Given the description of an element on the screen output the (x, y) to click on. 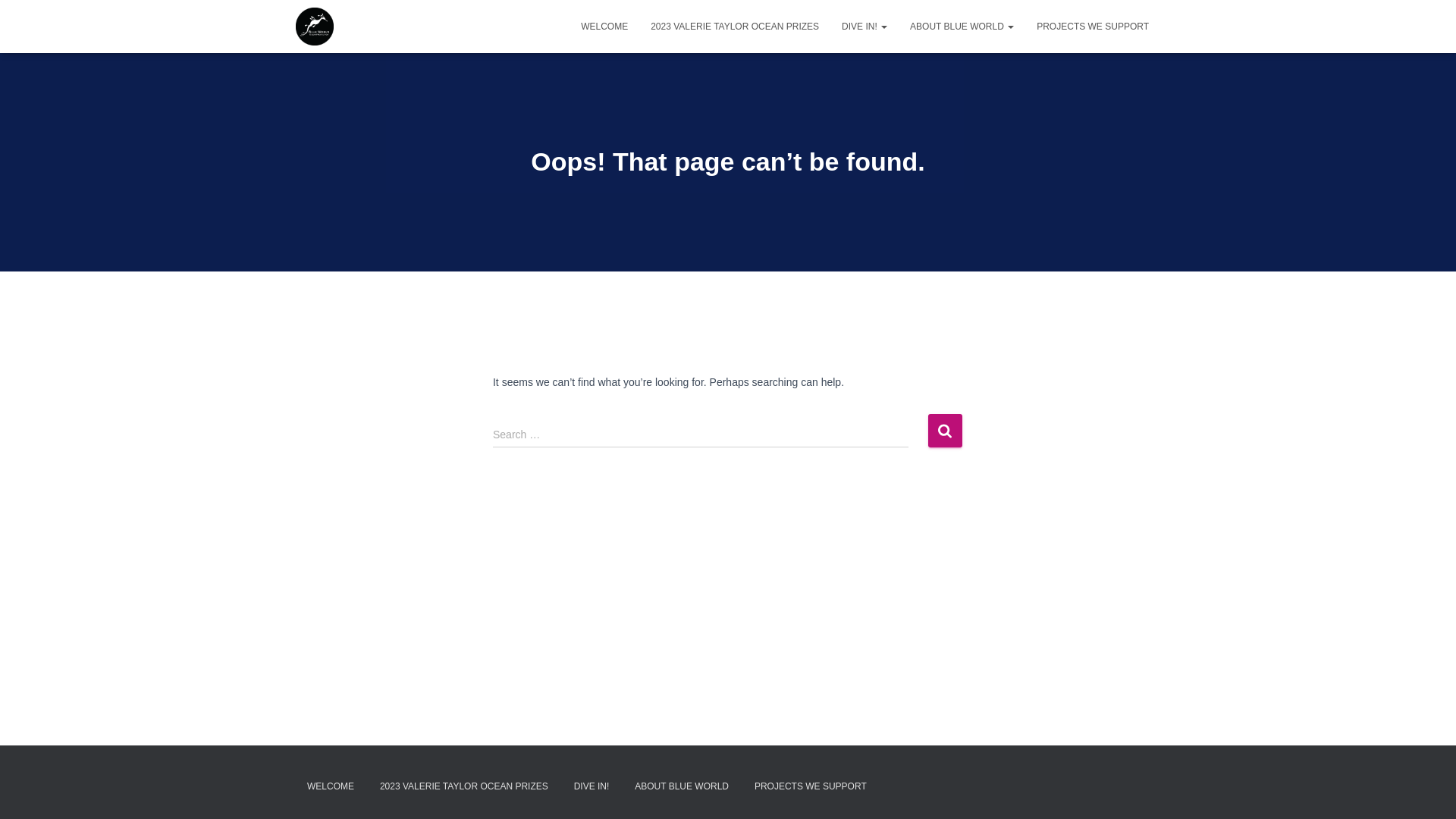
Search Element type: text (945, 430)
DIVE IN! Element type: text (864, 26)
WELCOME Element type: text (330, 786)
PROJECTS WE SUPPORT Element type: text (810, 786)
PROJECTS WE SUPPORT Element type: text (1092, 26)
2023 VALERIE TAYLOR OCEAN PRIZES Element type: text (463, 786)
ABOUT BLUE WORLD Element type: text (681, 786)
Blue World Element type: hover (314, 26)
2023 VALERIE TAYLOR OCEAN PRIZES Element type: text (734, 26)
DIVE IN! Element type: text (591, 786)
ABOUT BLUE WORLD Element type: text (961, 26)
WELCOME Element type: text (604, 26)
